Given the description of an element on the screen output the (x, y) to click on. 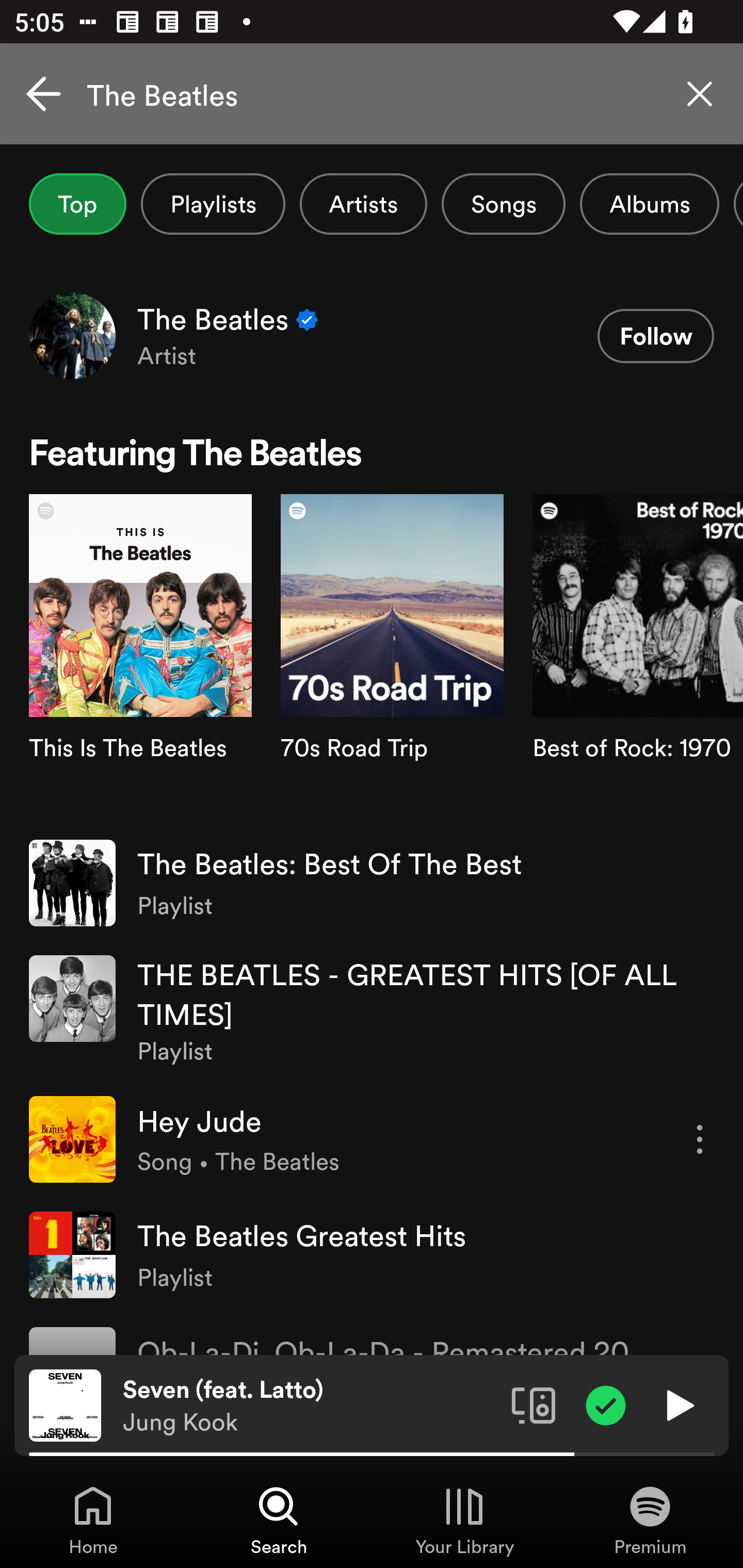
The Beatles (371, 93)
Cancel (43, 93)
Clear search query (699, 93)
Top (77, 203)
Playlists (213, 203)
Artists (363, 203)
Songs (503, 203)
Albums (649, 203)
The Beatles Verified Artist Follow Follow (371, 335)
Follow (655, 335)
Search card image This Is The Beatles (139, 658)
Search card image 70s Road Trip (391, 658)
Search card image Best of Rock: 1970 (637, 658)
The Beatles: Best Of The Best Playlist (371, 882)
More options for song Hey Jude (699, 1139)
The Beatles Greatest Hits Playlist (371, 1254)
Seven (feat. Latto) Jung Kook (309, 1405)
The cover art of the currently playing track (64, 1404)
Connect to a device. Opens the devices menu (533, 1404)
Item added (605, 1404)
Play (677, 1404)
Home, Tab 1 of 4 Home Home (92, 1519)
Search, Tab 2 of 4 Search Search (278, 1519)
Your Library, Tab 3 of 4 Your Library Your Library (464, 1519)
Premium, Tab 4 of 4 Premium Premium (650, 1519)
